Given the description of an element on the screen output the (x, y) to click on. 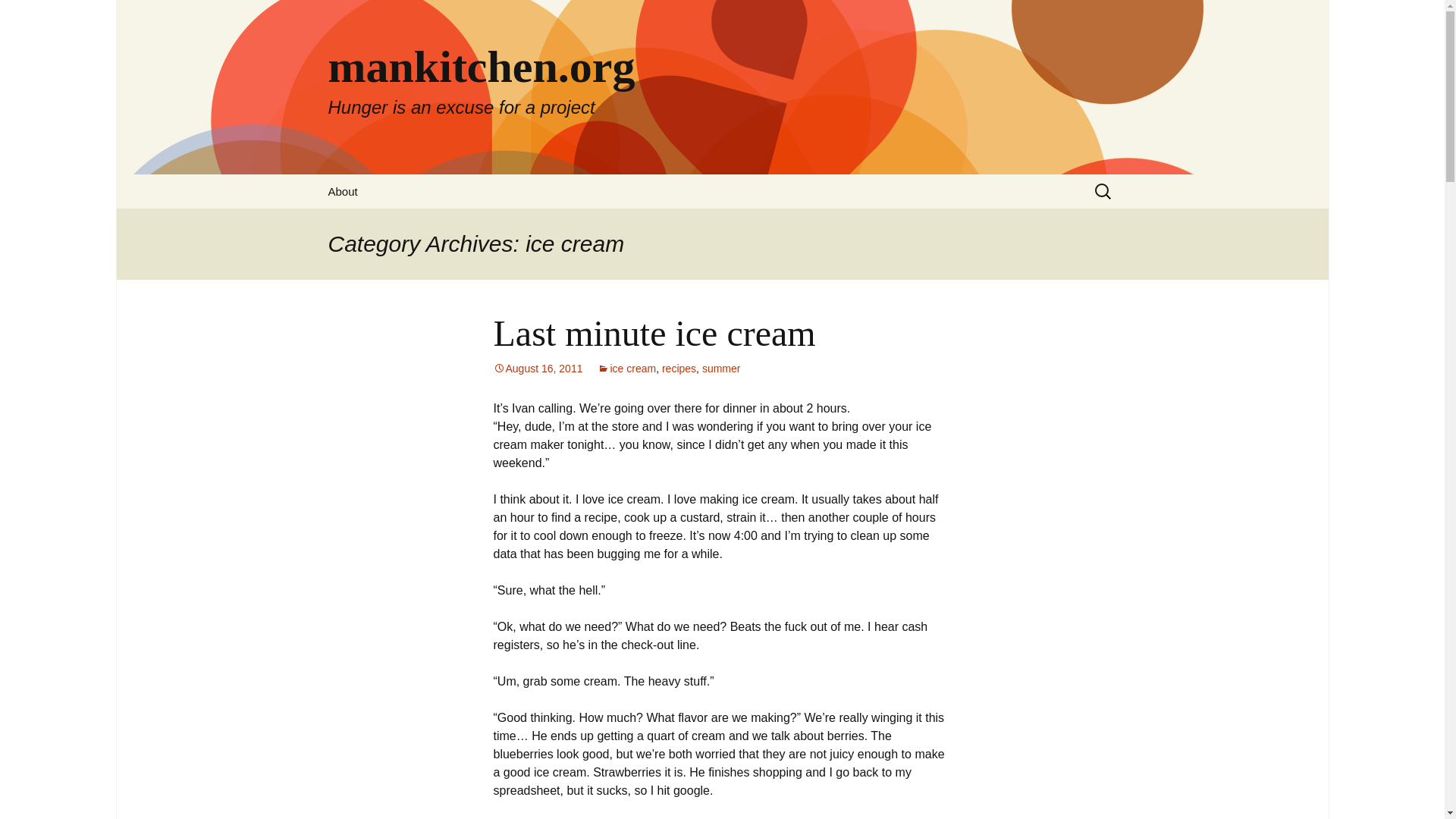
ice cream (626, 368)
summer (721, 368)
Search (18, 15)
August 16, 2011 (537, 368)
recipes (678, 368)
Last minute ice cream (654, 332)
Permalink to Last minute ice cream (537, 368)
About (342, 191)
